Given the description of an element on the screen output the (x, y) to click on. 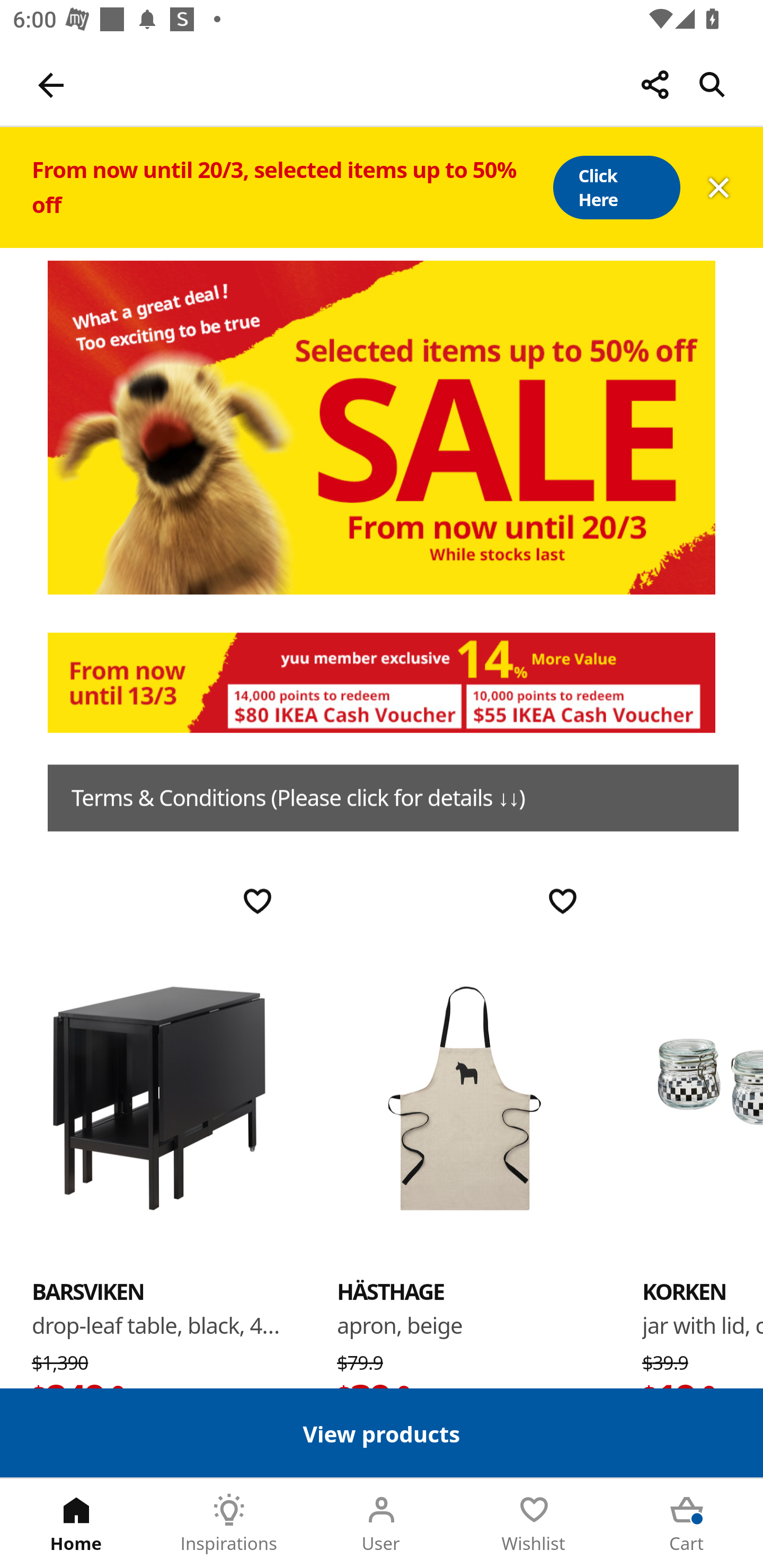
Click Here (615, 187)
Terms & Conditions (Please click for details ↓↓) (393, 798)
BARSVIKEN (159, 1096)
HÄSTHAGE (464, 1096)
KORKEN (702, 1096)
BARSVIKEN (88, 1290)
HÄSTHAGE (390, 1290)
KORKEN (684, 1290)
View products (381, 1432)
Home
Tab 1 of 5 (76, 1522)
Inspirations
Tab 2 of 5 (228, 1522)
User
Tab 3 of 5 (381, 1522)
Wishlist
Tab 4 of 5 (533, 1522)
Cart
Tab 5 of 5 (686, 1522)
